Given the description of an element on the screen output the (x, y) to click on. 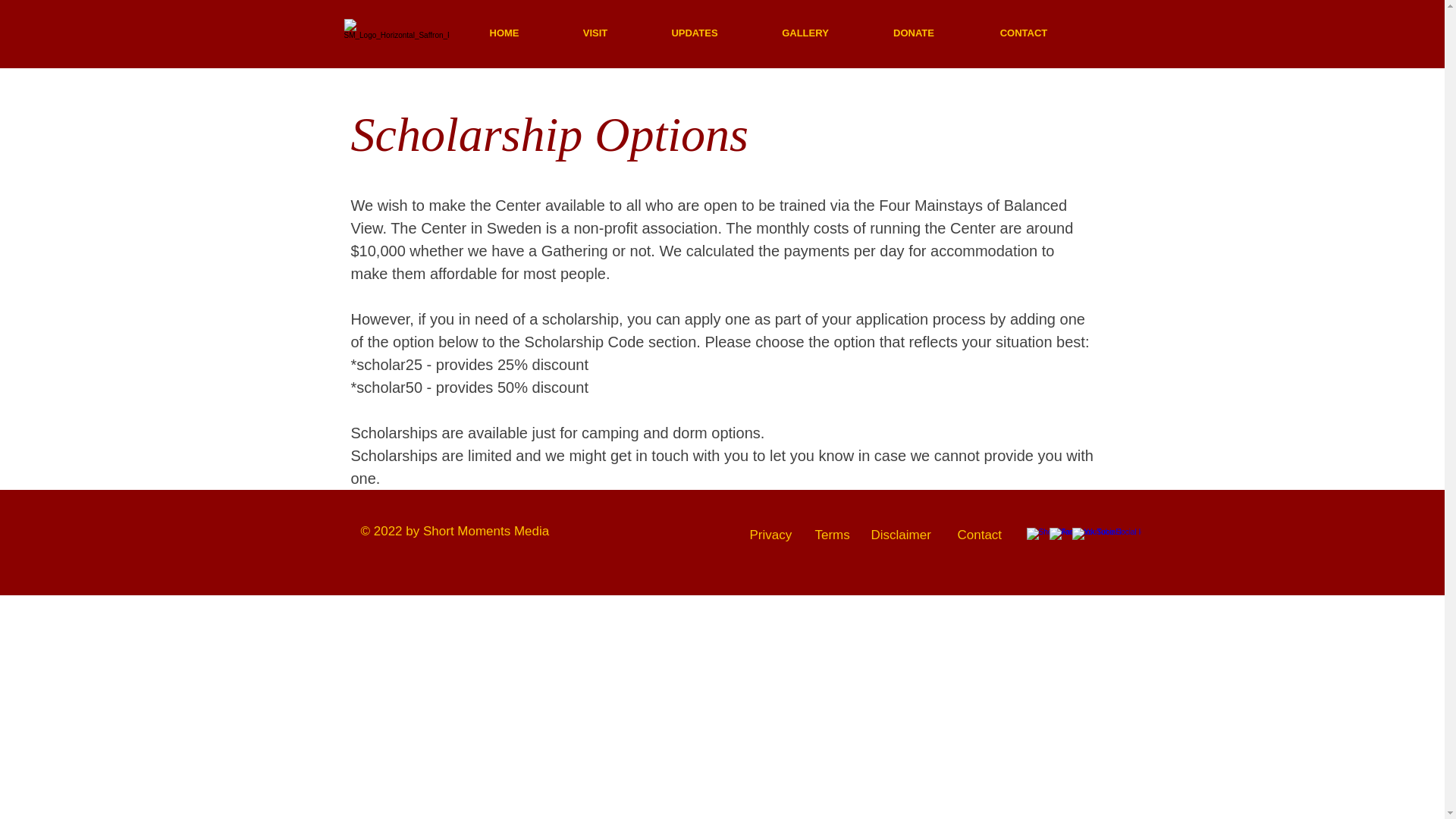
HOME (504, 33)
DONATE (913, 33)
Privacy (770, 534)
Disclaimer (900, 534)
CONTACT (1024, 33)
GALLERY (805, 33)
Terms (830, 534)
Contact (978, 534)
